Given the description of an element on the screen output the (x, y) to click on. 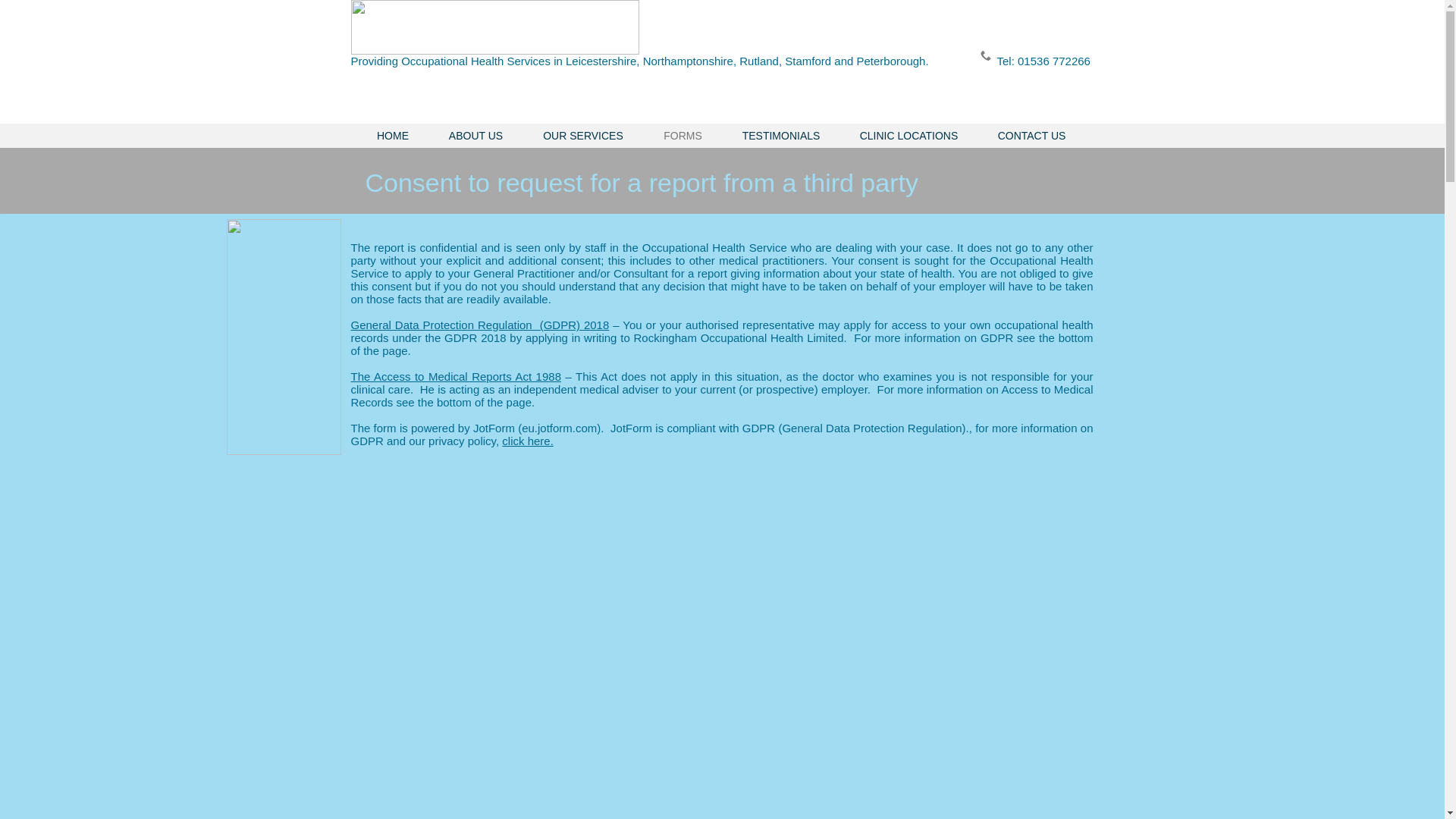
OUR SERVICES (582, 136)
FORMS (682, 136)
ABOUT US (475, 136)
CLINIC LOCATIONS (909, 136)
click here. (527, 440)
TESTIMONIALS (781, 136)
HOME (392, 136)
CONTACT US (1032, 136)
